Given the description of an element on the screen output the (x, y) to click on. 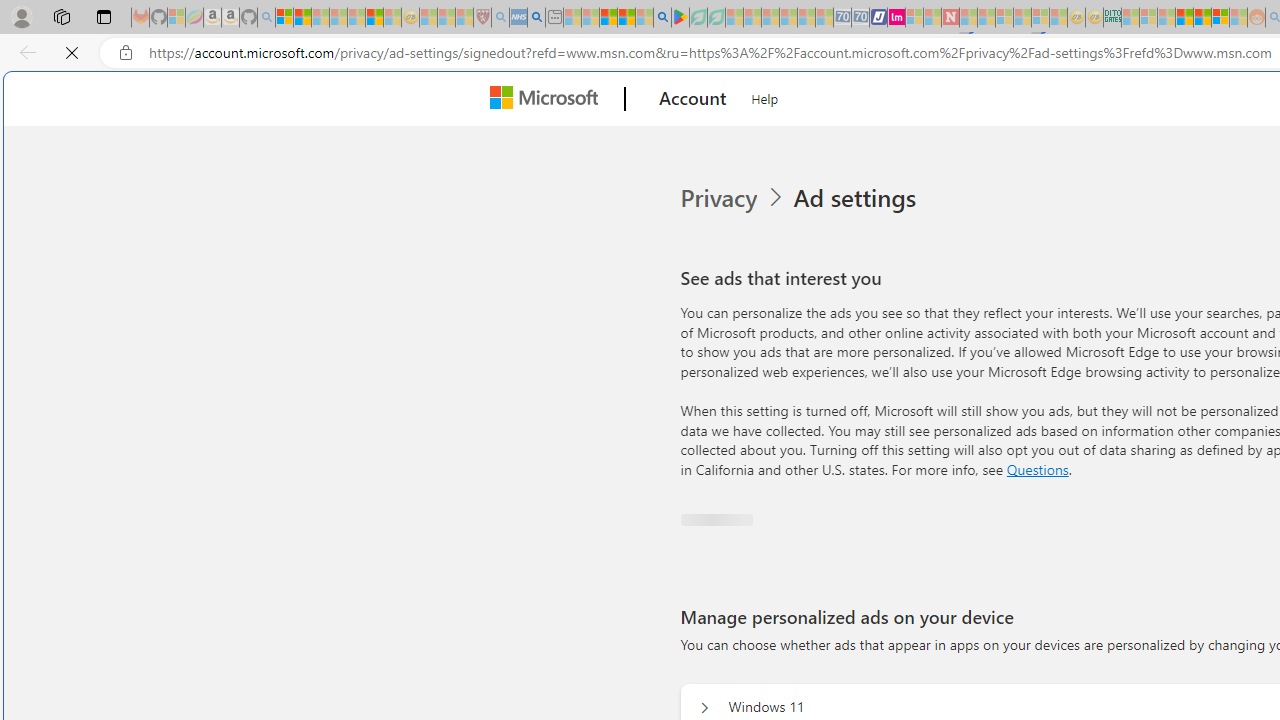
Help (765, 96)
Terms of Use Agreement - Sleeping (697, 17)
